Given the description of an element on the screen output the (x, y) to click on. 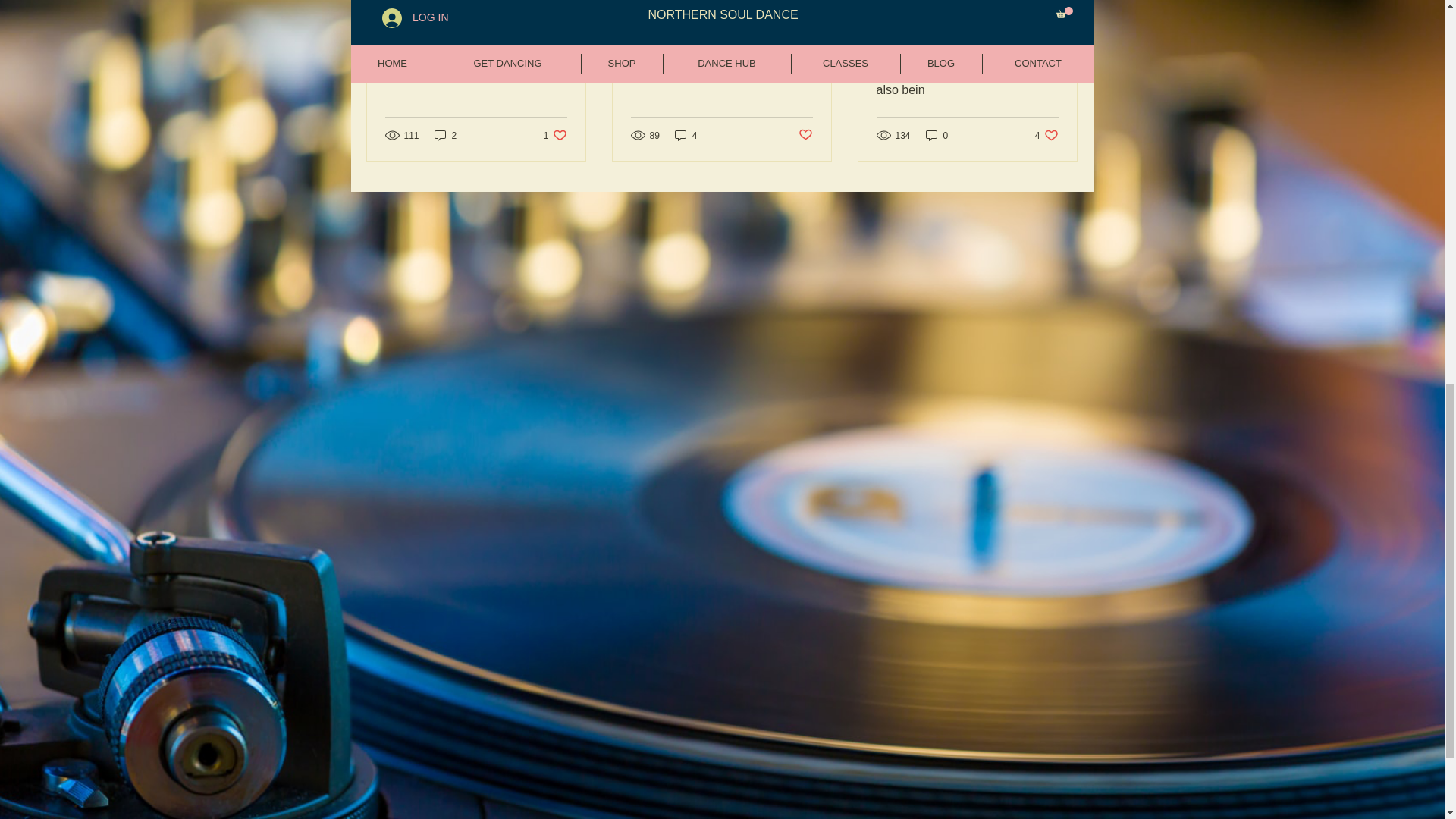
2 (445, 134)
0 (937, 134)
4 (685, 134)
Post not marked as liked (804, 135)
